Given the description of an element on the screen output the (x, y) to click on. 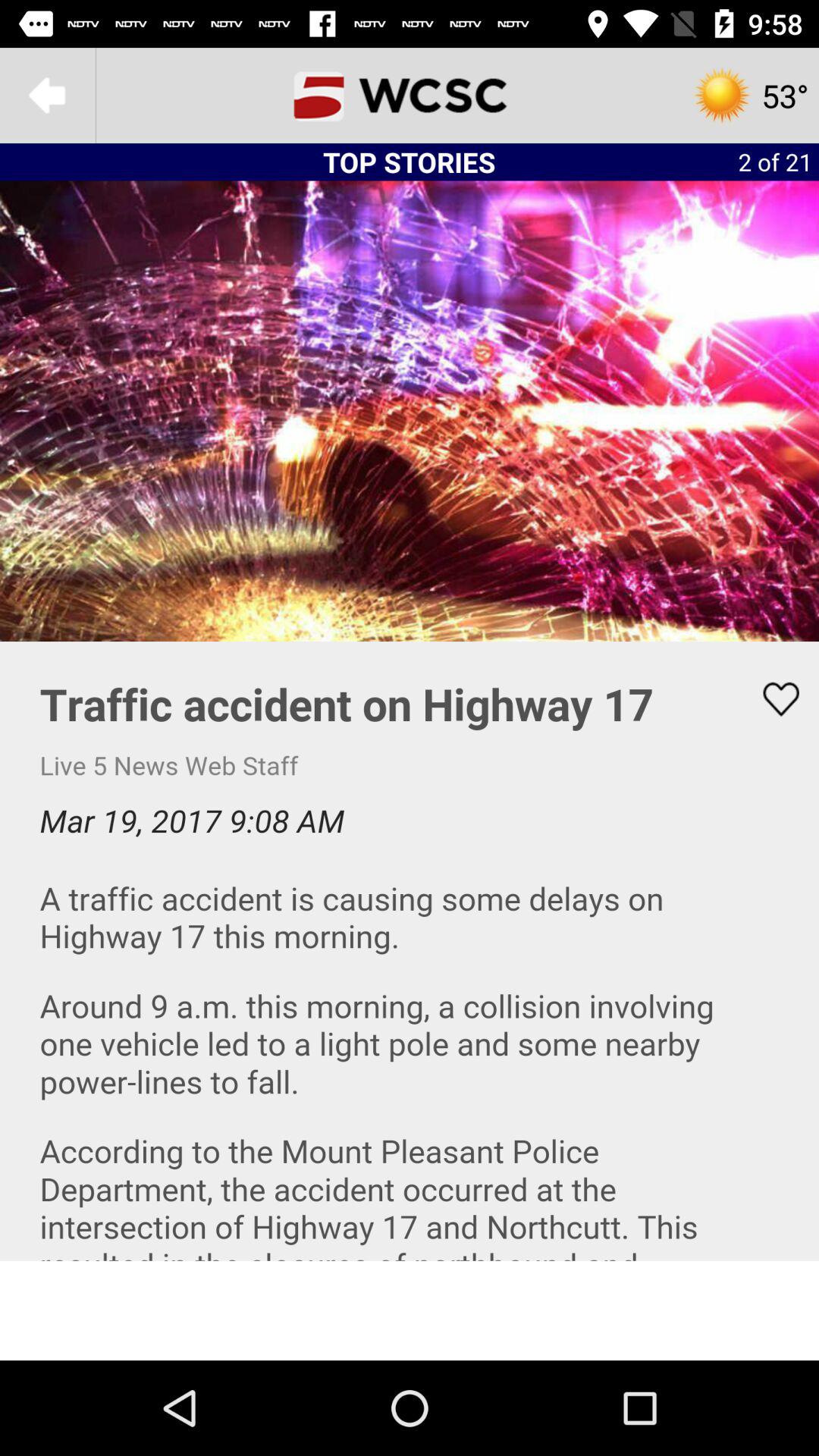
go back to previous (47, 95)
